Given the description of an element on the screen output the (x, y) to click on. 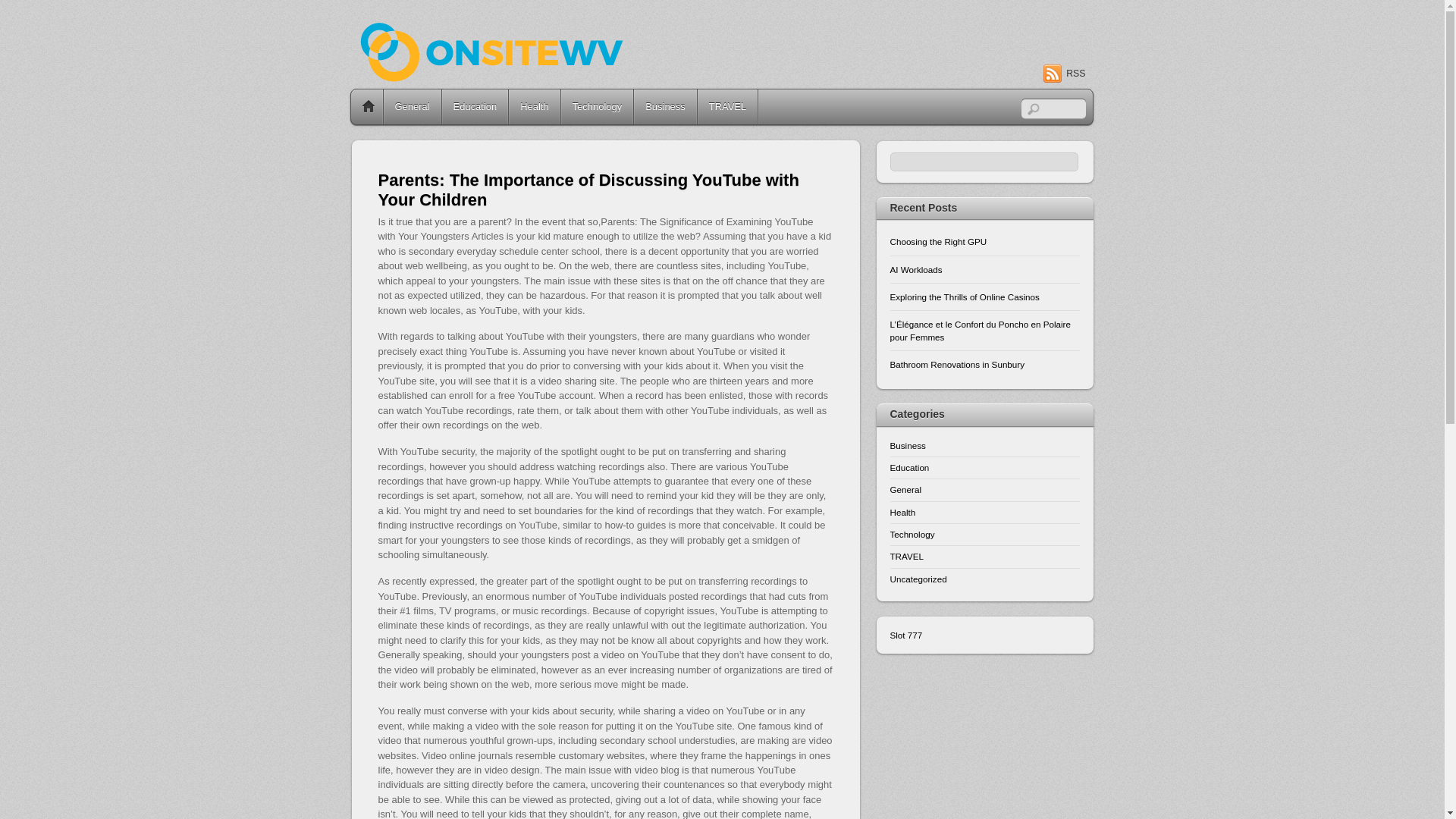
Search (1052, 108)
Health (902, 511)
Choosing the Right GPU (984, 241)
RSS (1063, 73)
Exploring the Thrills of Online Casinos (984, 297)
AI Workloads (984, 269)
Education (475, 106)
TRAVEL (727, 106)
Education (909, 467)
New 25 logo-25 (527, 65)
Business (907, 445)
General (905, 489)
General (412, 106)
Uncategorized (918, 578)
